Given the description of an element on the screen output the (x, y) to click on. 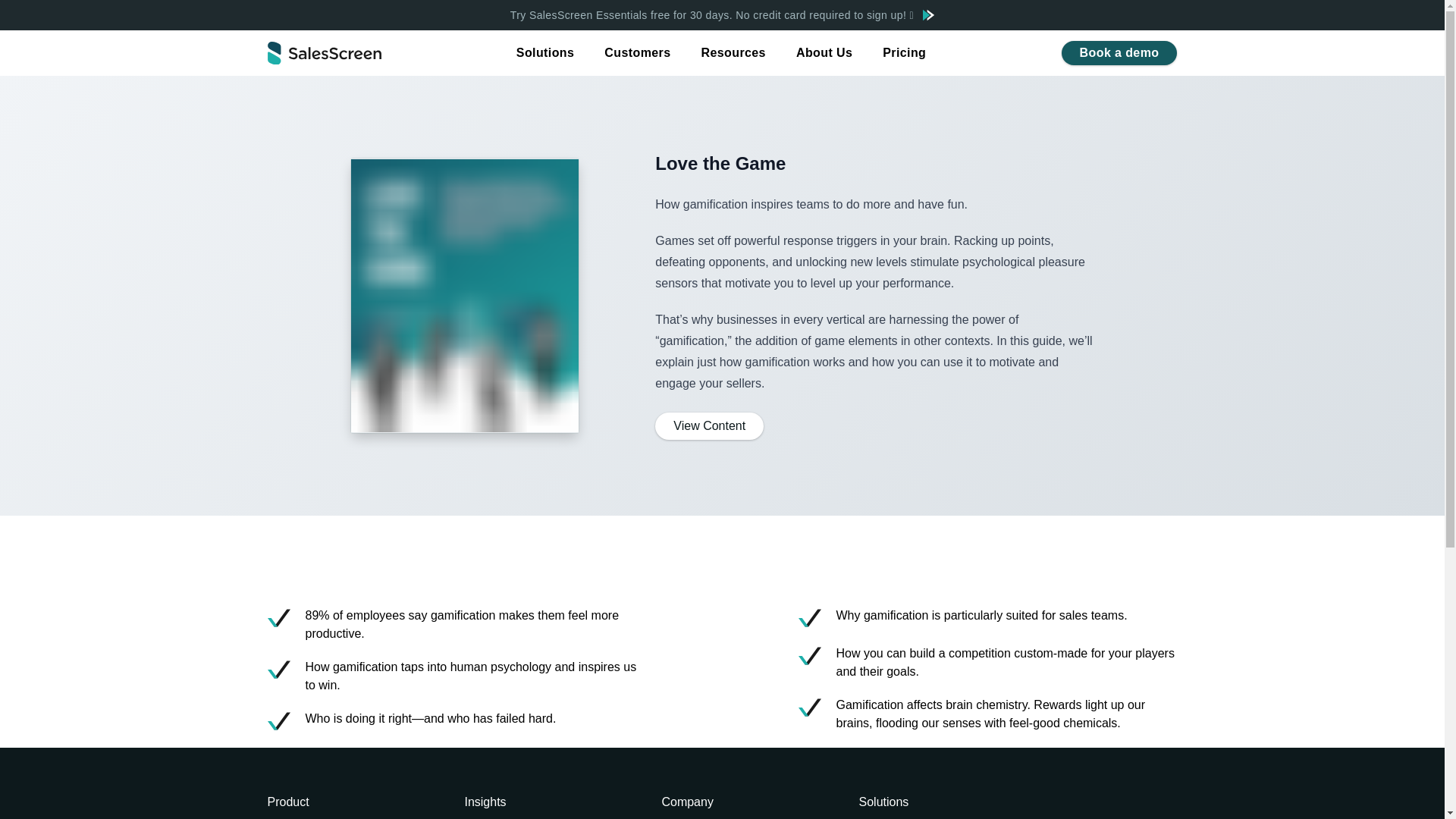
Customers (636, 53)
Pricing (904, 53)
About Us (823, 53)
View Content (708, 425)
Book a demo (1119, 52)
